Given the description of an element on the screen output the (x, y) to click on. 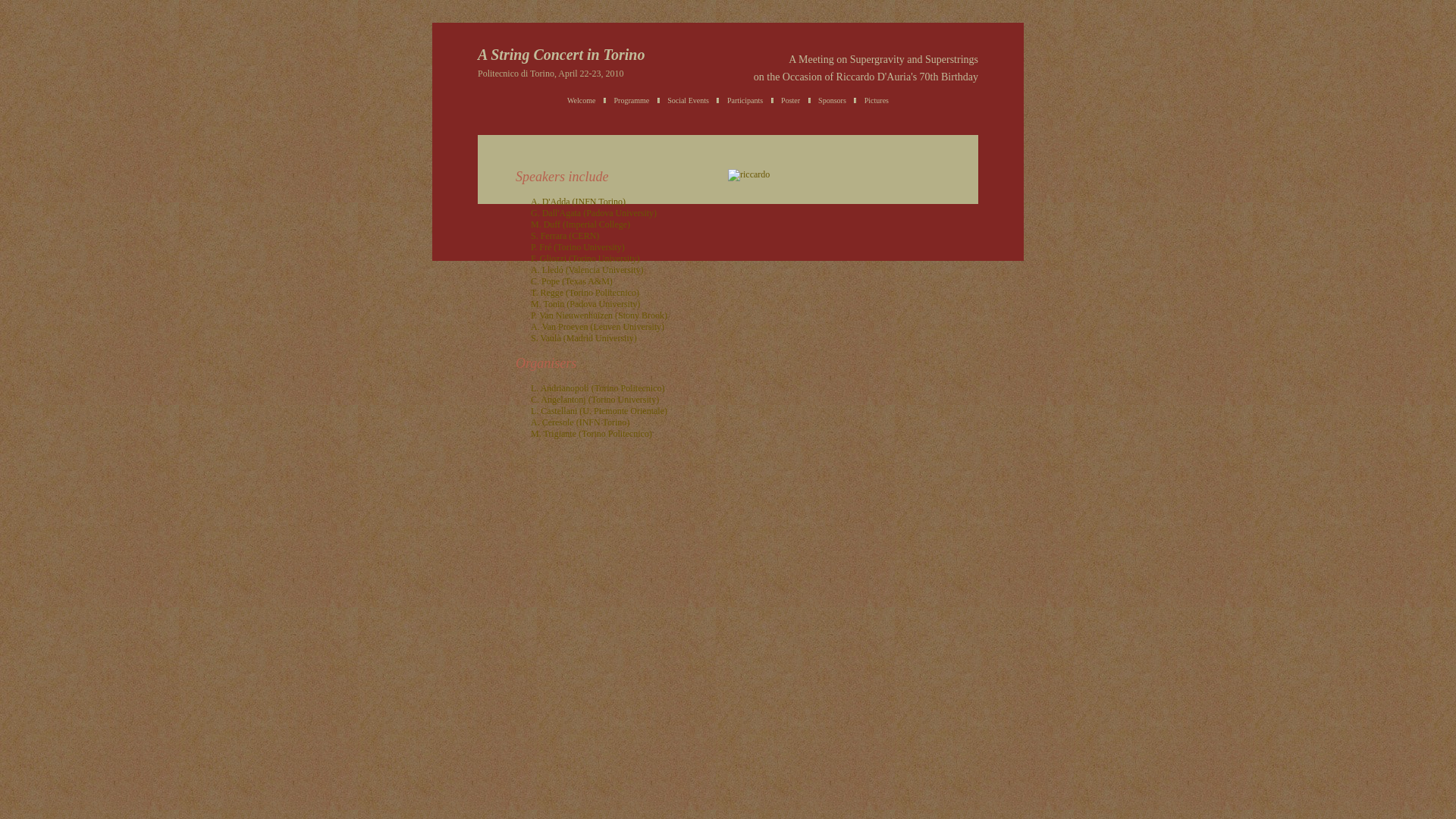
Participants Element type: text (744, 100)
Programme Element type: text (631, 100)
Sponsors Element type: text (832, 100)
Social Events Element type: text (688, 100)
Welcome Element type: text (581, 100)
Poster Element type: text (790, 100)
Pictures Element type: text (876, 100)
